Given the description of an element on the screen output the (x, y) to click on. 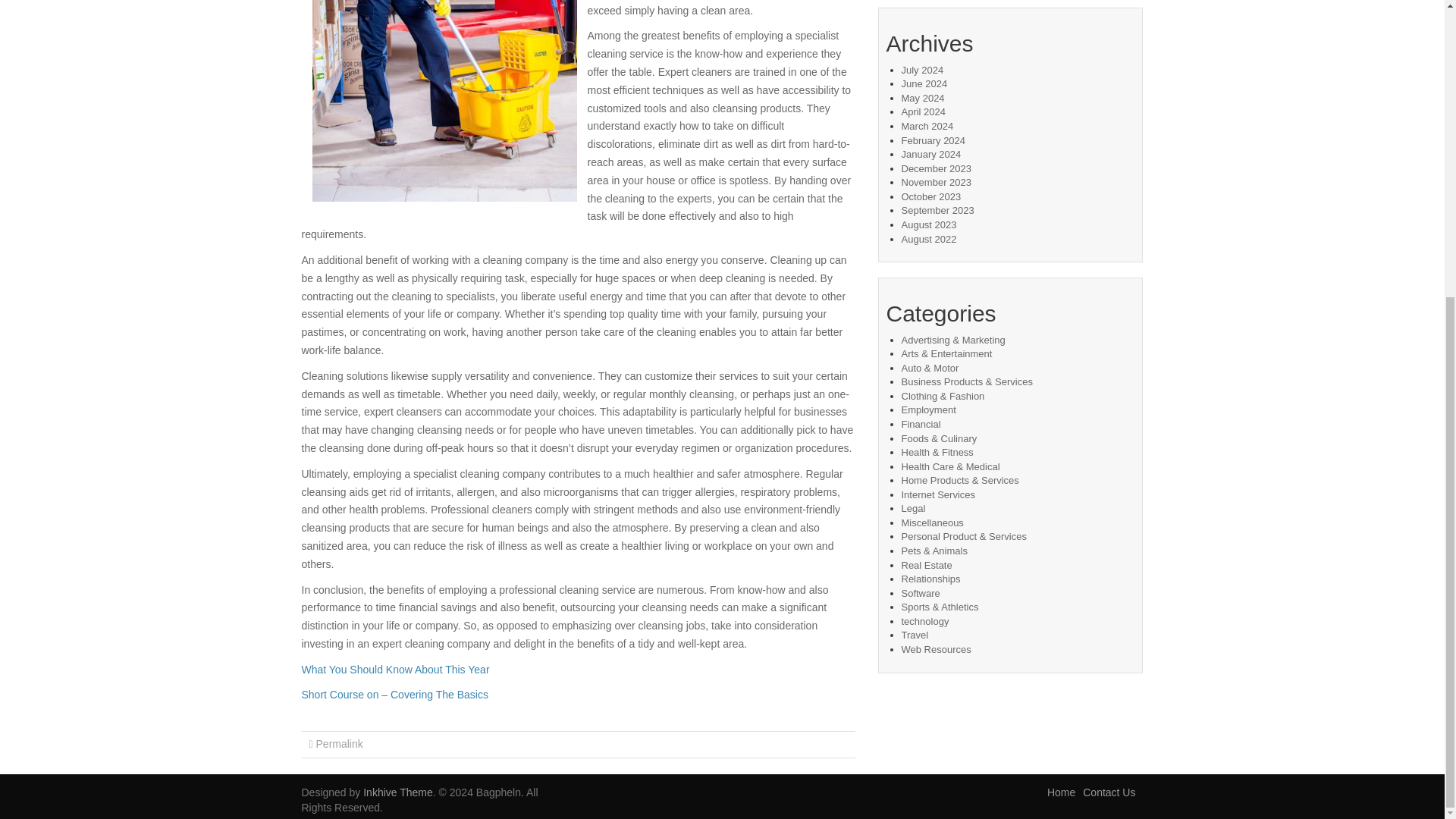
July 2024 (922, 70)
June 2024 (924, 83)
Permalink (338, 743)
August 2023 (928, 224)
February 2024 (933, 140)
December 2023 (936, 168)
May 2024 (922, 98)
Financial (920, 423)
January 2024 (930, 153)
October 2023 (930, 196)
April 2024 (922, 111)
August 2022 (928, 238)
September 2023 (937, 210)
March 2024 (927, 125)
What You Should Know About This Year (395, 669)
